Given the description of an element on the screen output the (x, y) to click on. 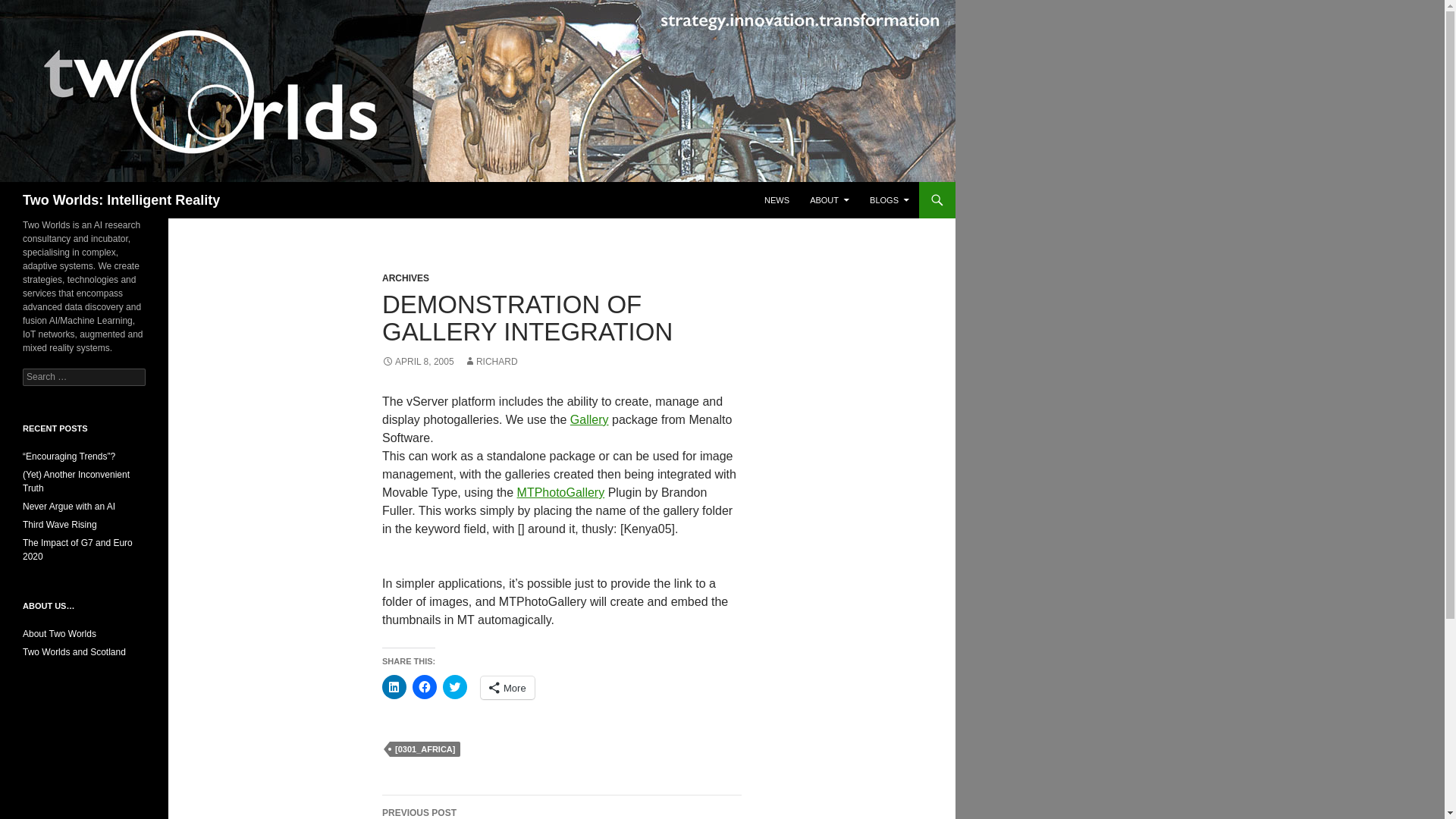
RICHARD (491, 361)
Two Worlds: Intelligent Reality (121, 199)
Click to share on LinkedIn (393, 686)
ABOUT (829, 199)
Two Worlds and Scotland (74, 652)
Gallery (589, 419)
ARCHIVES (405, 277)
The Impact of G7 and Euro 2020 (77, 549)
About Two Worlds (59, 633)
